Given the description of an element on the screen output the (x, y) to click on. 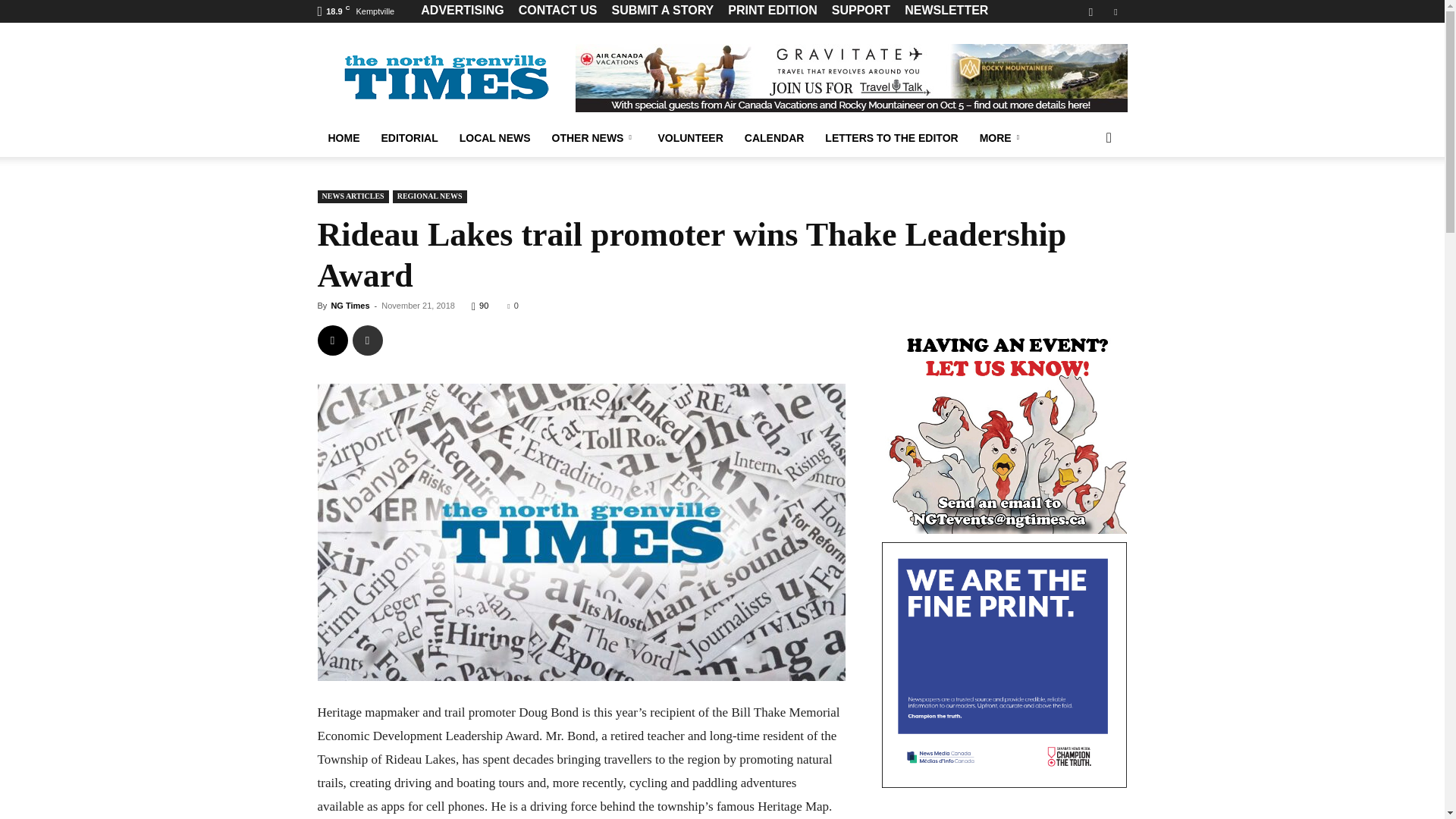
ADVERTISING (461, 10)
NEWSLETTER (946, 10)
Youtube (1114, 11)
the voice of North Grenville (445, 78)
PRINT EDITION (772, 10)
SUBMIT A STORY (662, 10)
Instagram (1090, 11)
CONTACT US (557, 10)
Email (332, 340)
SUPPORT (860, 10)
Print (366, 340)
